Given the description of an element on the screen output the (x, y) to click on. 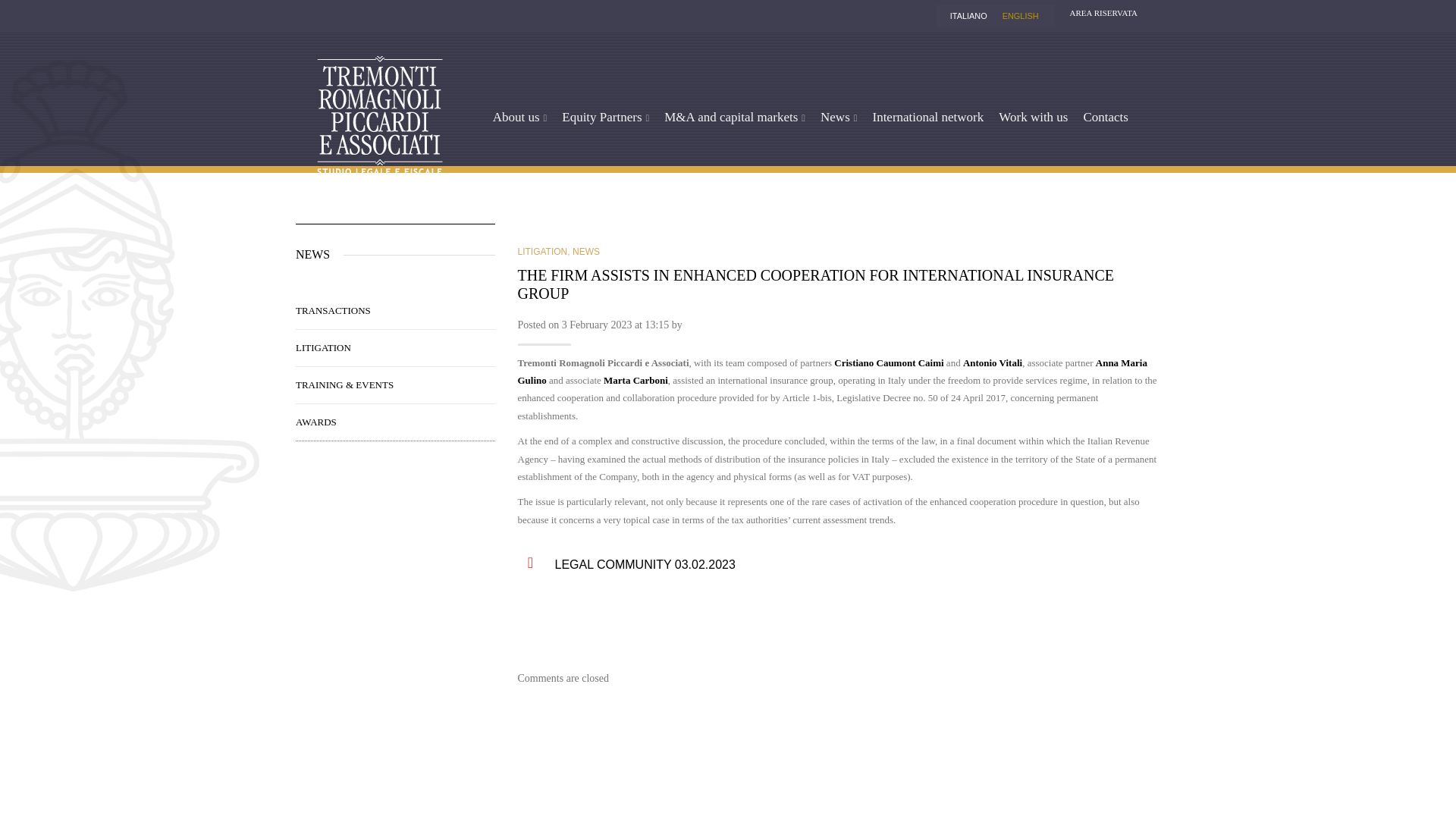
About us (519, 116)
AREA RISERVATA (1099, 12)
Equity Partners (605, 116)
ITALIANO (968, 15)
ENGLISH (1020, 15)
